Given the description of an element on the screen output the (x, y) to click on. 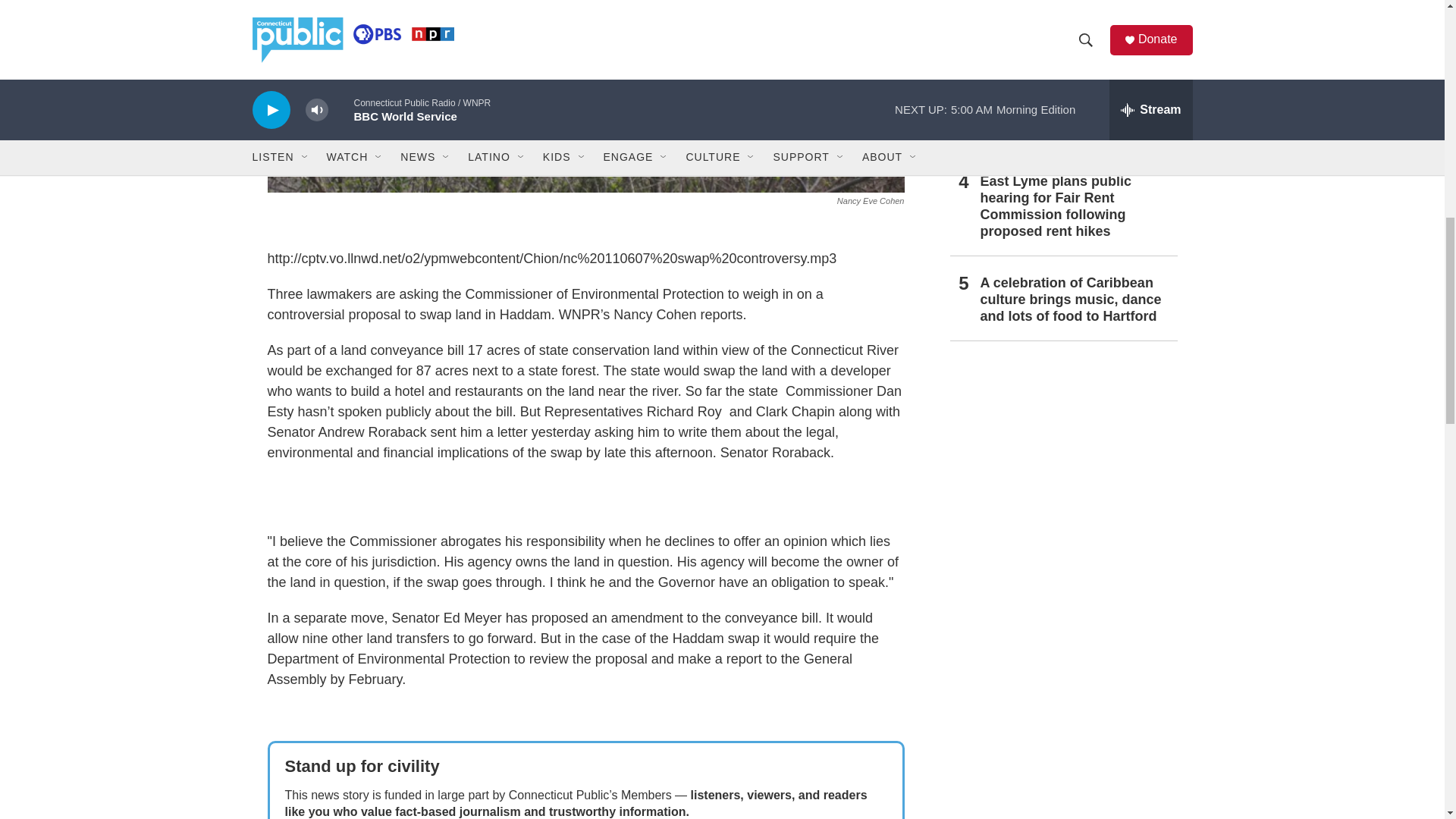
3rd party ad content (1062, 466)
3rd party ad content (585, 497)
3rd party ad content (1062, 815)
3rd party ad content (1062, 686)
